Given the description of an element on the screen output the (x, y) to click on. 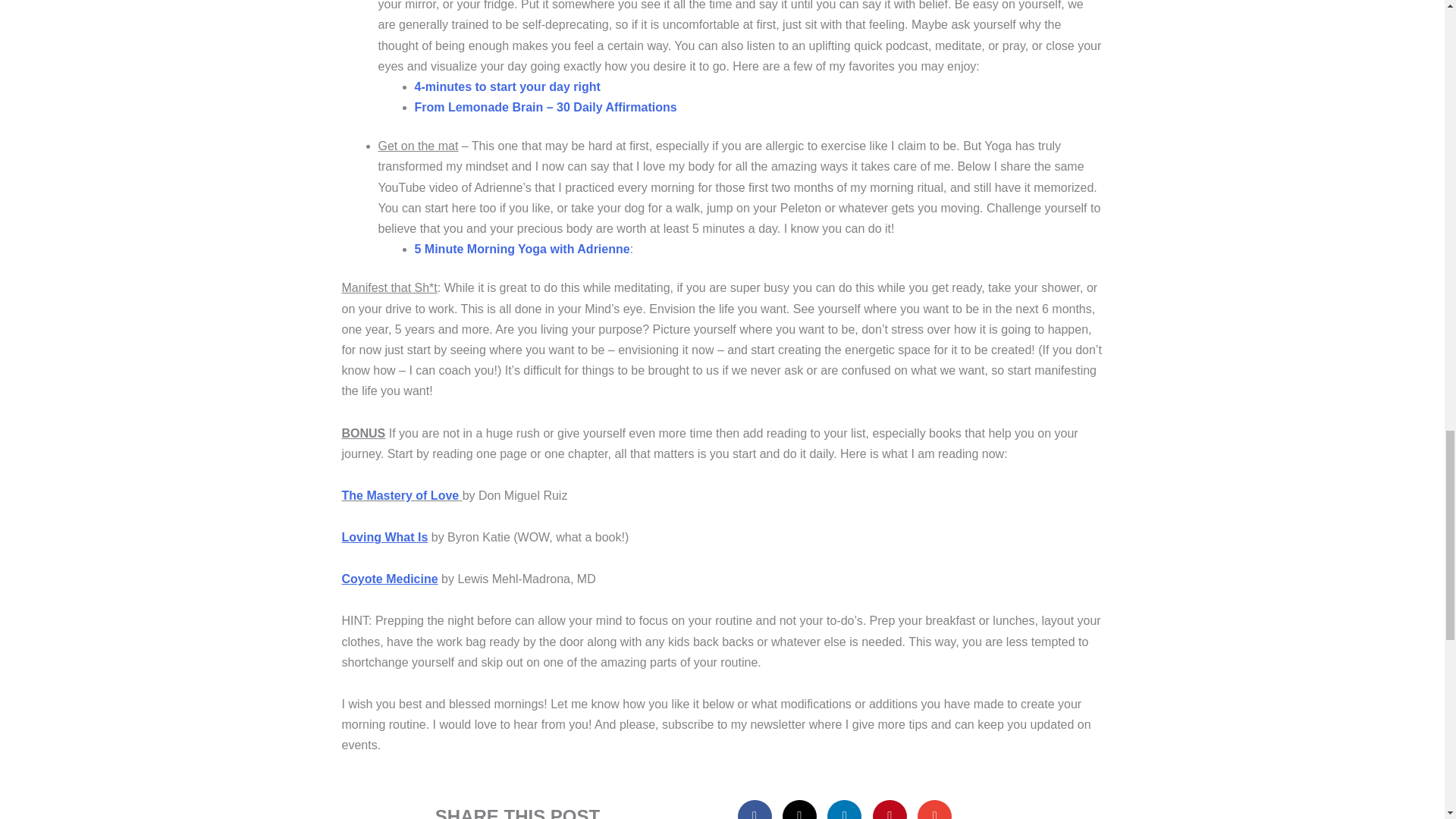
5 Minute Morning Yoga with Adrienne (520, 248)
Share on linkedin (844, 809)
Share on twitter (799, 809)
Share on email (934, 809)
Coyote Medicine (389, 578)
Loving What Is (384, 536)
The Mastery of Love (399, 495)
4-minutes to start your day right (506, 86)
Share on facebook (754, 809)
Share on pinterest (890, 809)
